Given the description of an element on the screen output the (x, y) to click on. 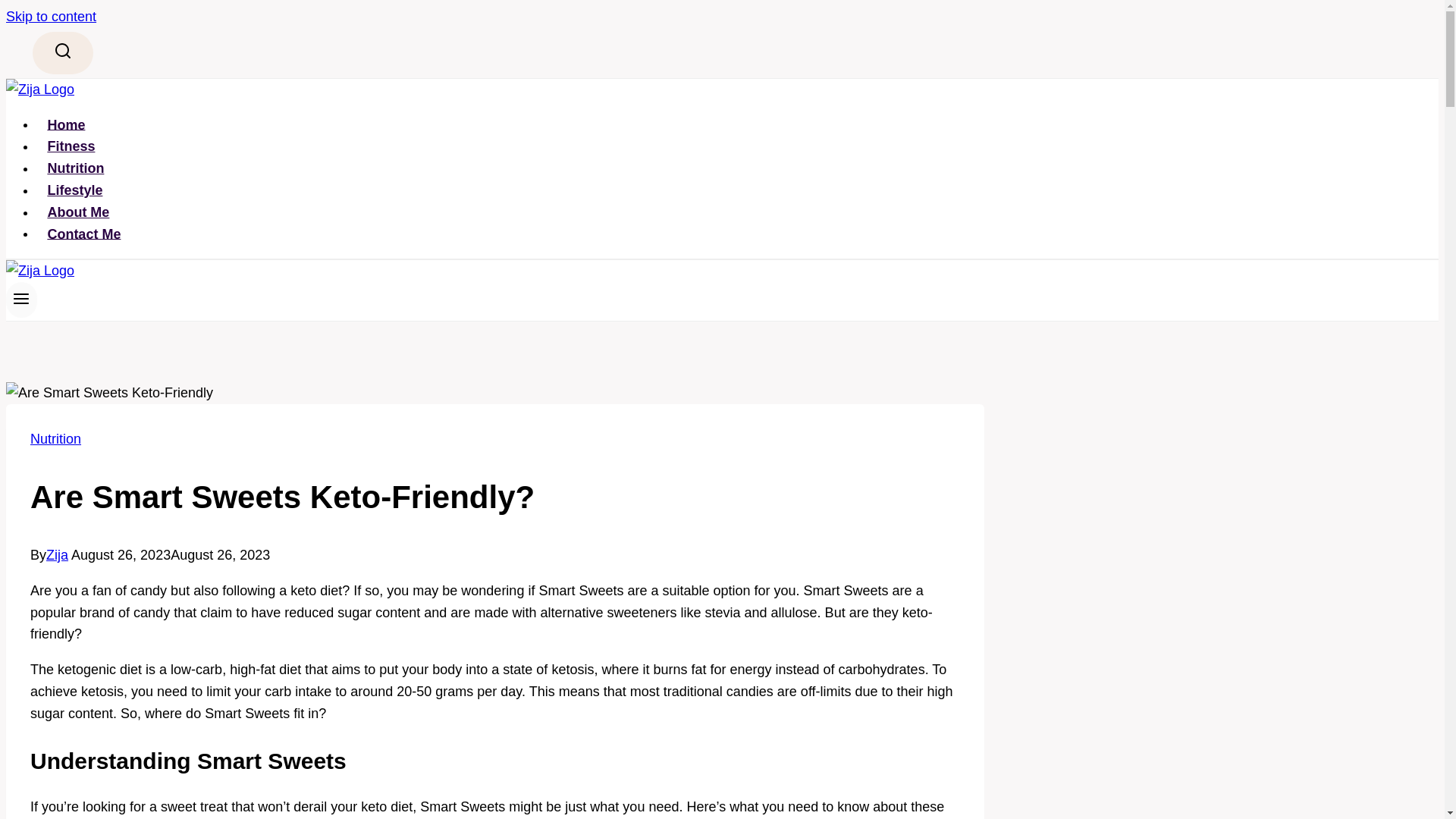
Search (62, 52)
Search (62, 50)
Contact Me (84, 234)
Lifestyle (74, 190)
Skip to content (50, 16)
Toggle Menu (20, 298)
About Me (78, 212)
Skip to content (50, 16)
Home (66, 124)
Nutrition (75, 168)
Nutrition (55, 438)
Zija (57, 554)
Fitness (71, 146)
